Given the description of an element on the screen output the (x, y) to click on. 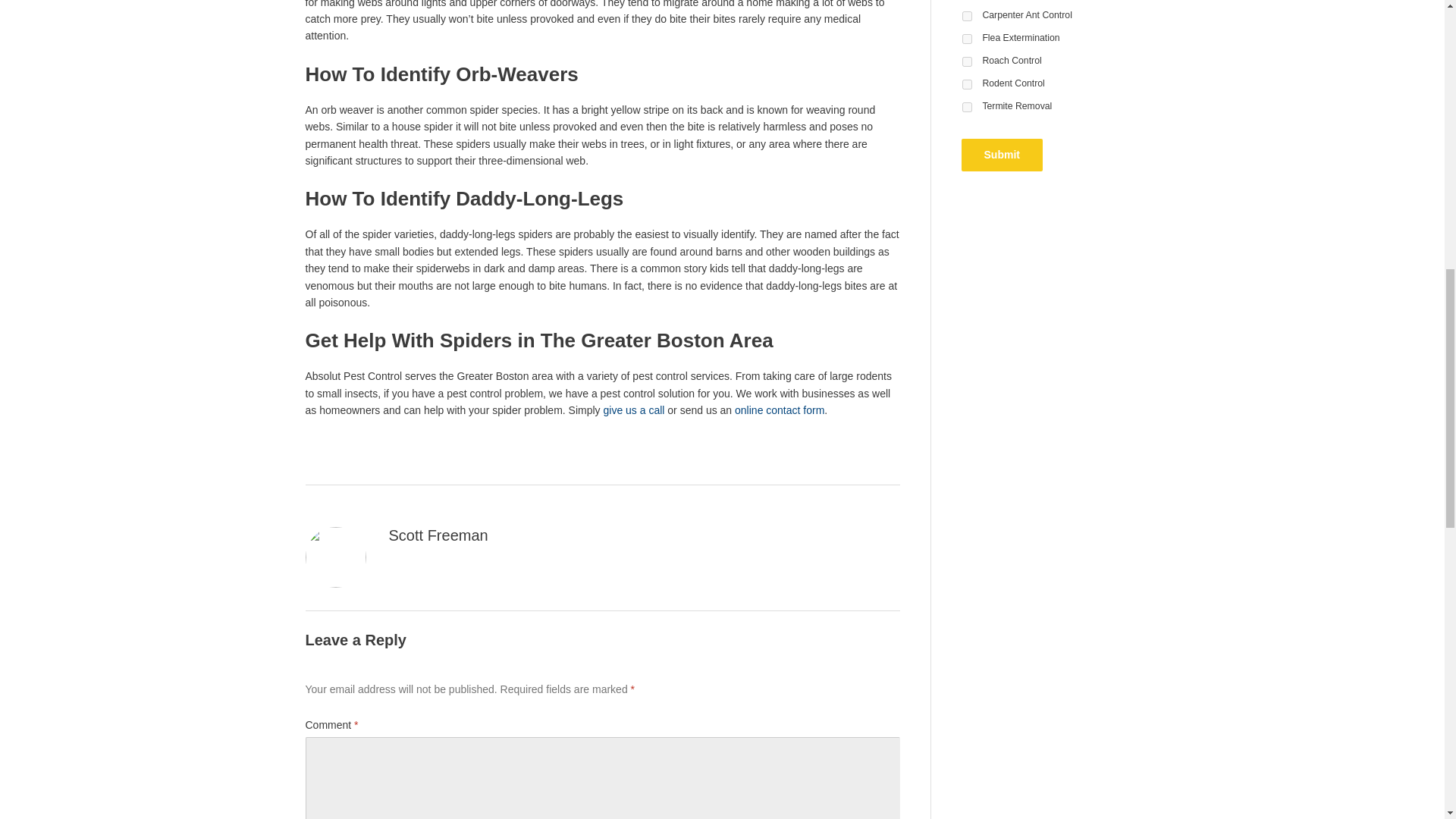
Flea Extermination (965, 39)
Rodent Control (965, 84)
Carpenter Ant Control (965, 16)
Roach Control (965, 61)
